Given the description of an element on the screen output the (x, y) to click on. 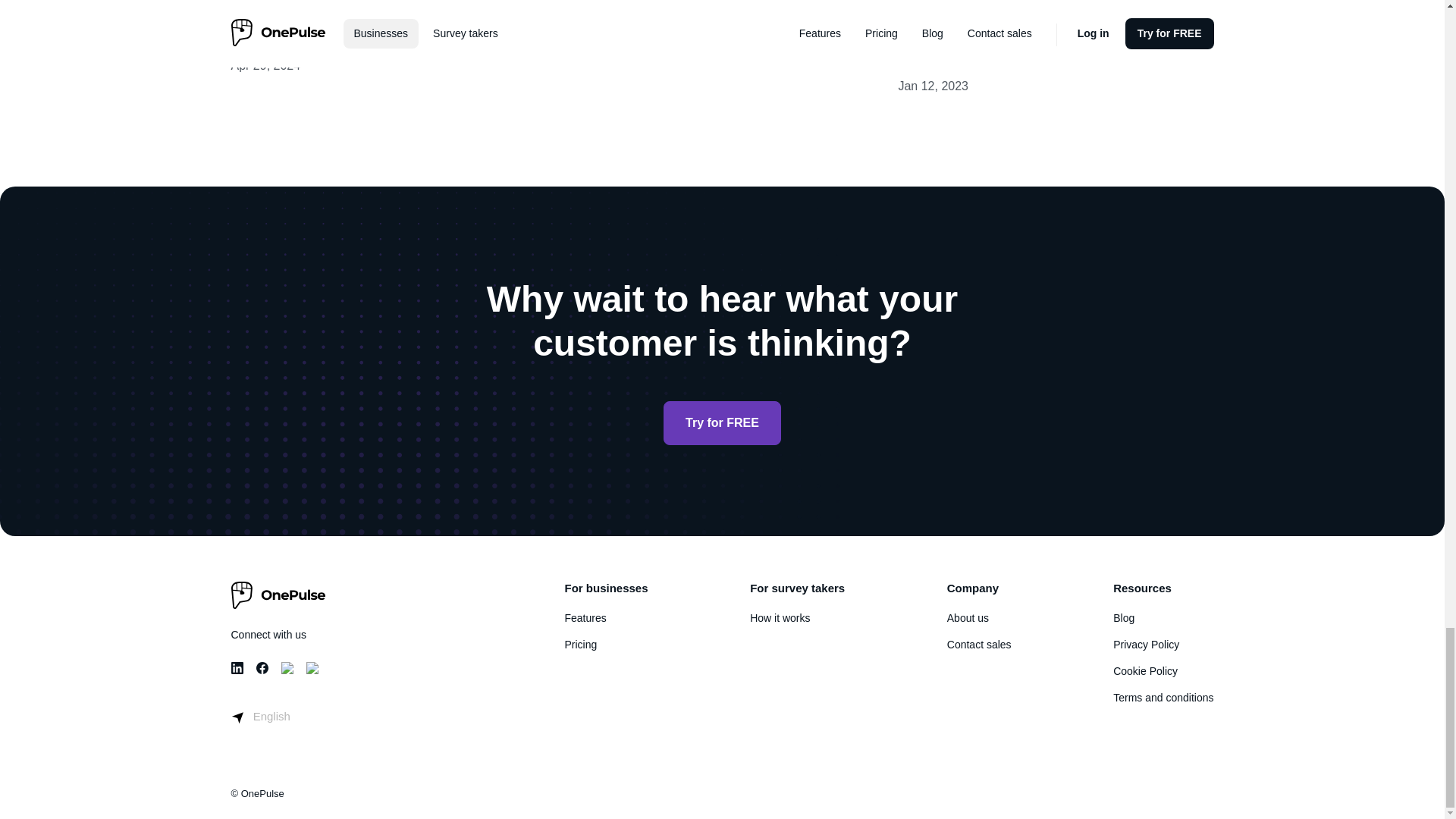
Try for FREE (721, 423)
English (259, 715)
